Given the description of an element on the screen output the (x, y) to click on. 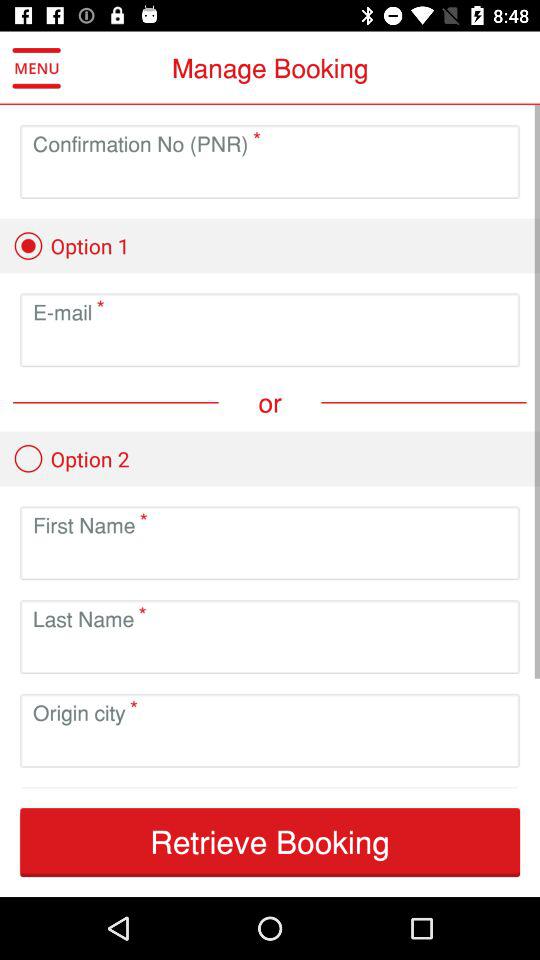
enter your email address (270, 345)
